Given the description of an element on the screen output the (x, y) to click on. 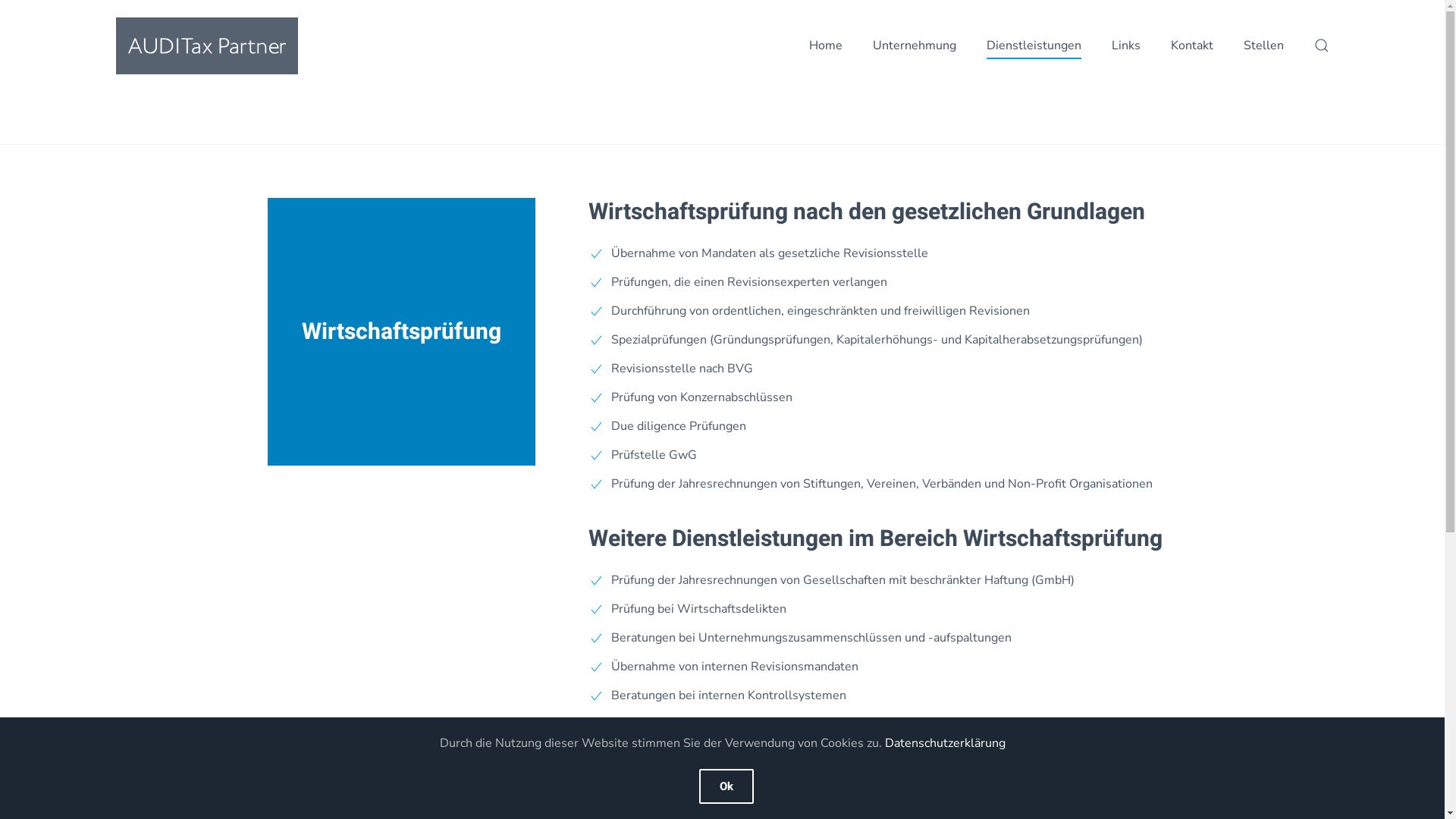
Stellen Element type: text (1263, 45)
Unternehmung Element type: text (913, 45)
Ok Element type: text (726, 785)
Kontakt Element type: text (1191, 45)
Links Element type: text (1125, 45)
Dienstleistungen Element type: text (1032, 45)
Home Element type: text (824, 45)
